Given the description of an element on the screen output the (x, y) to click on. 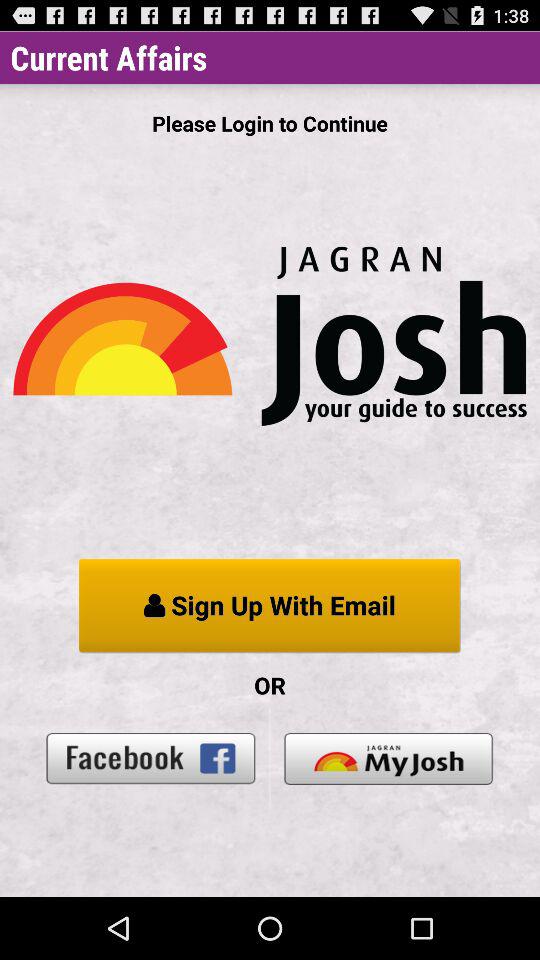
select facebook (151, 758)
